Given the description of an element on the screen output the (x, y) to click on. 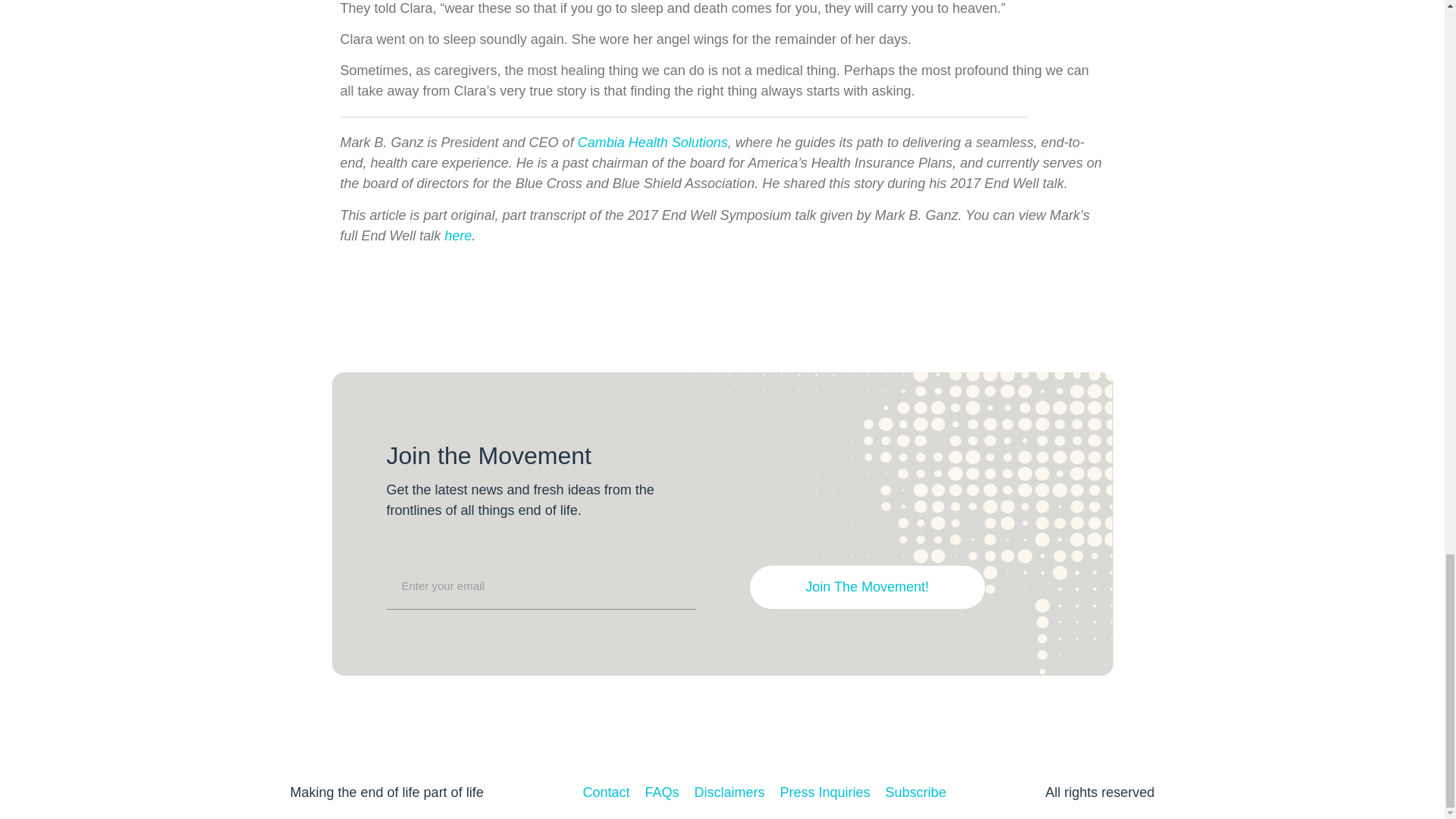
Press Inquiries (825, 792)
Contact (605, 792)
Subscribe (915, 792)
Join The Movement! (867, 587)
Disclaimers (729, 792)
FAQs (661, 792)
Cambia Health Solutions (653, 142)
here (457, 235)
